Given the description of an element on the screen output the (x, y) to click on. 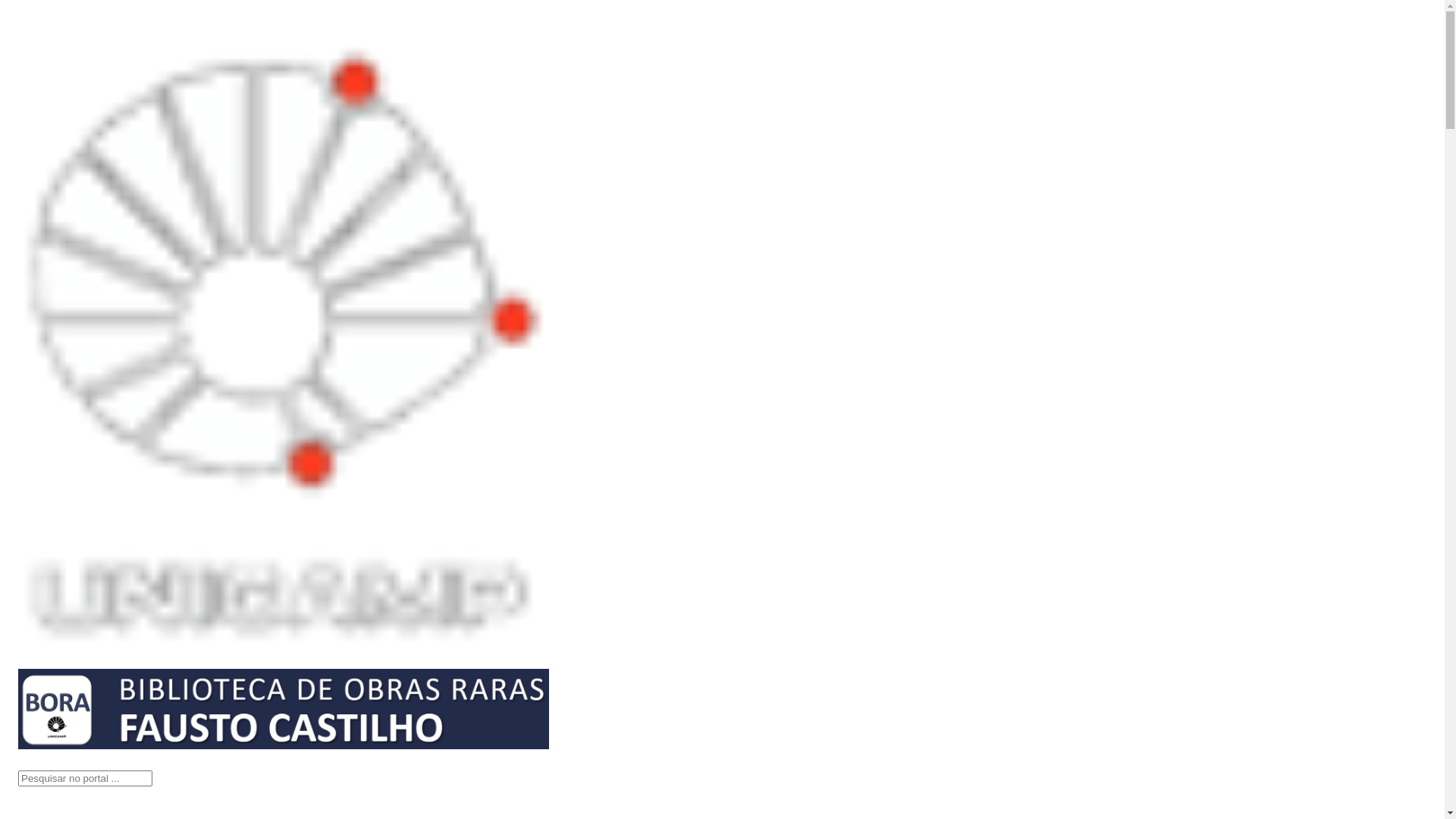
Biblioteca de Obras Raras Fausto Castilho (Bora) Element type: hover (283, 744)
Digitar o termo e teclar enter. Element type: hover (85, 778)
Univesidade Estadual de Campinas (Unicamp) Element type: hover (283, 643)
